Given the description of an element on the screen output the (x, y) to click on. 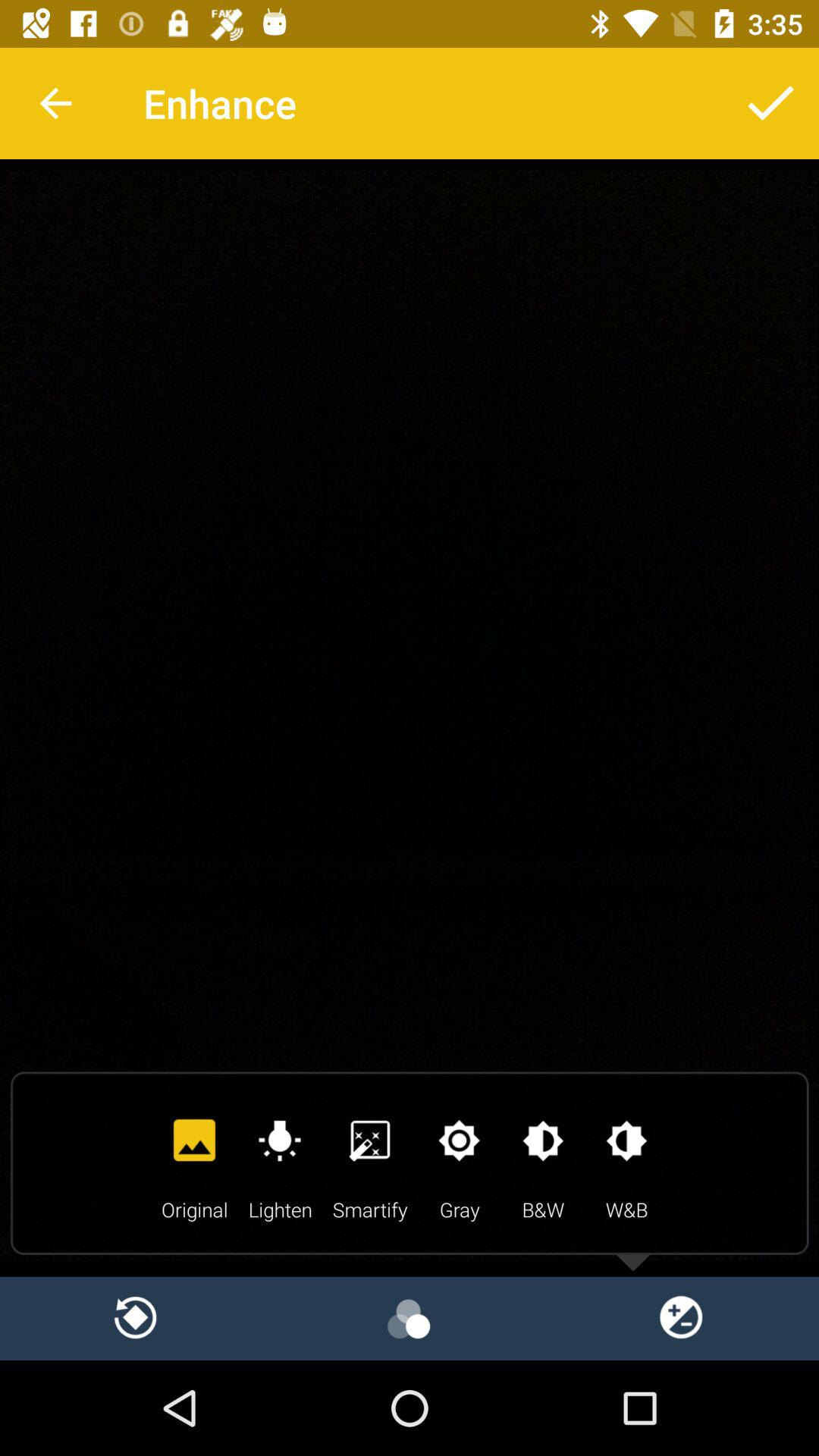
click the ok (771, 103)
